Given the description of an element on the screen output the (x, y) to click on. 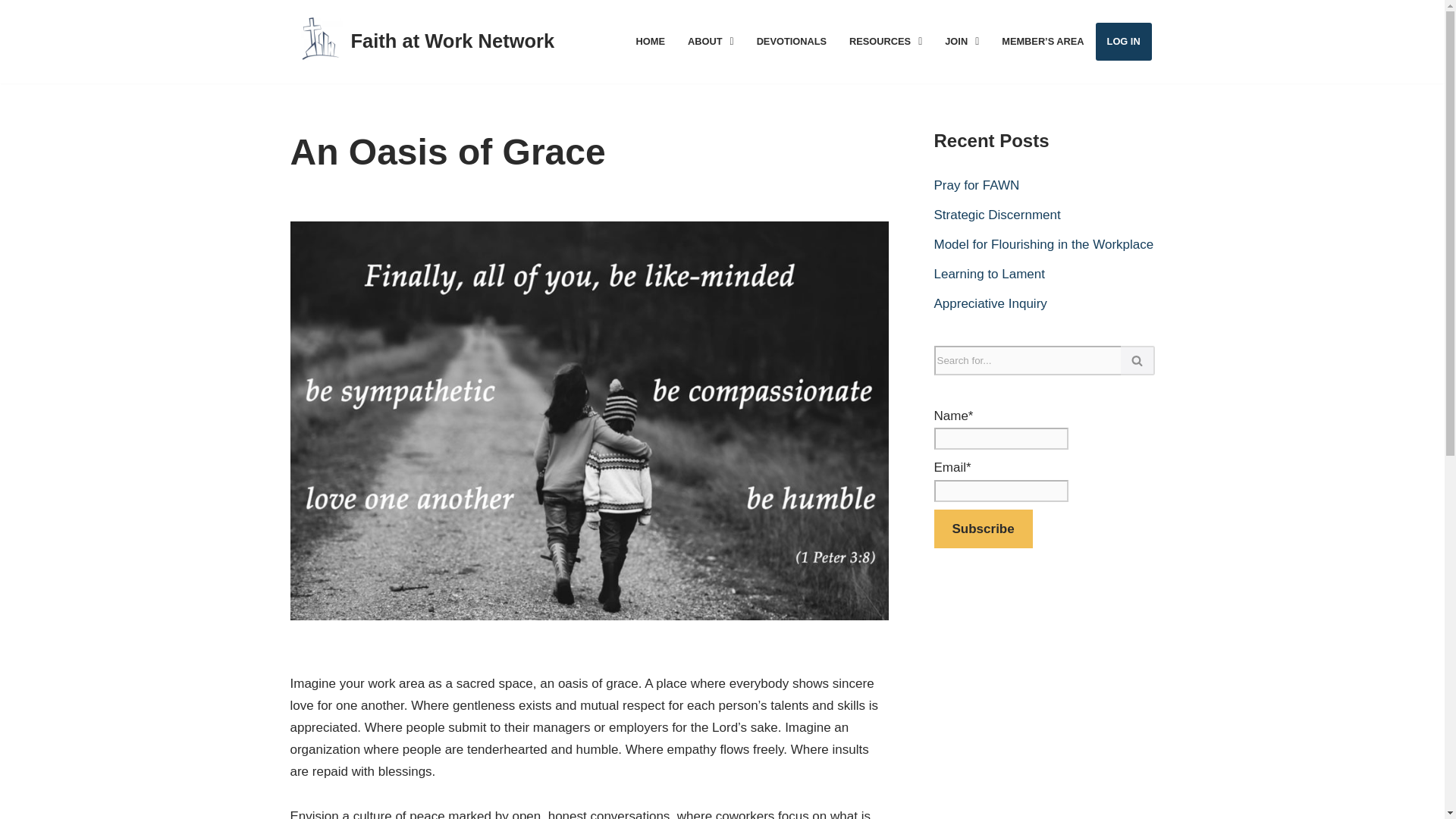
DEVOTIONALS (791, 41)
Appreciative Inquiry (990, 303)
Learning to Lament (989, 273)
HOME (650, 41)
JOIN (961, 41)
Subscribe (983, 528)
Model for Flourishing in the Workplace (1044, 244)
ABOUT (711, 41)
Strategic Discernment (997, 214)
Subscribe (983, 528)
Pray for FAWN (977, 185)
Skip to content (11, 31)
Faith at Work Network (452, 40)
RESOURCES (885, 41)
LOG IN (1123, 41)
